Given the description of an element on the screen output the (x, y) to click on. 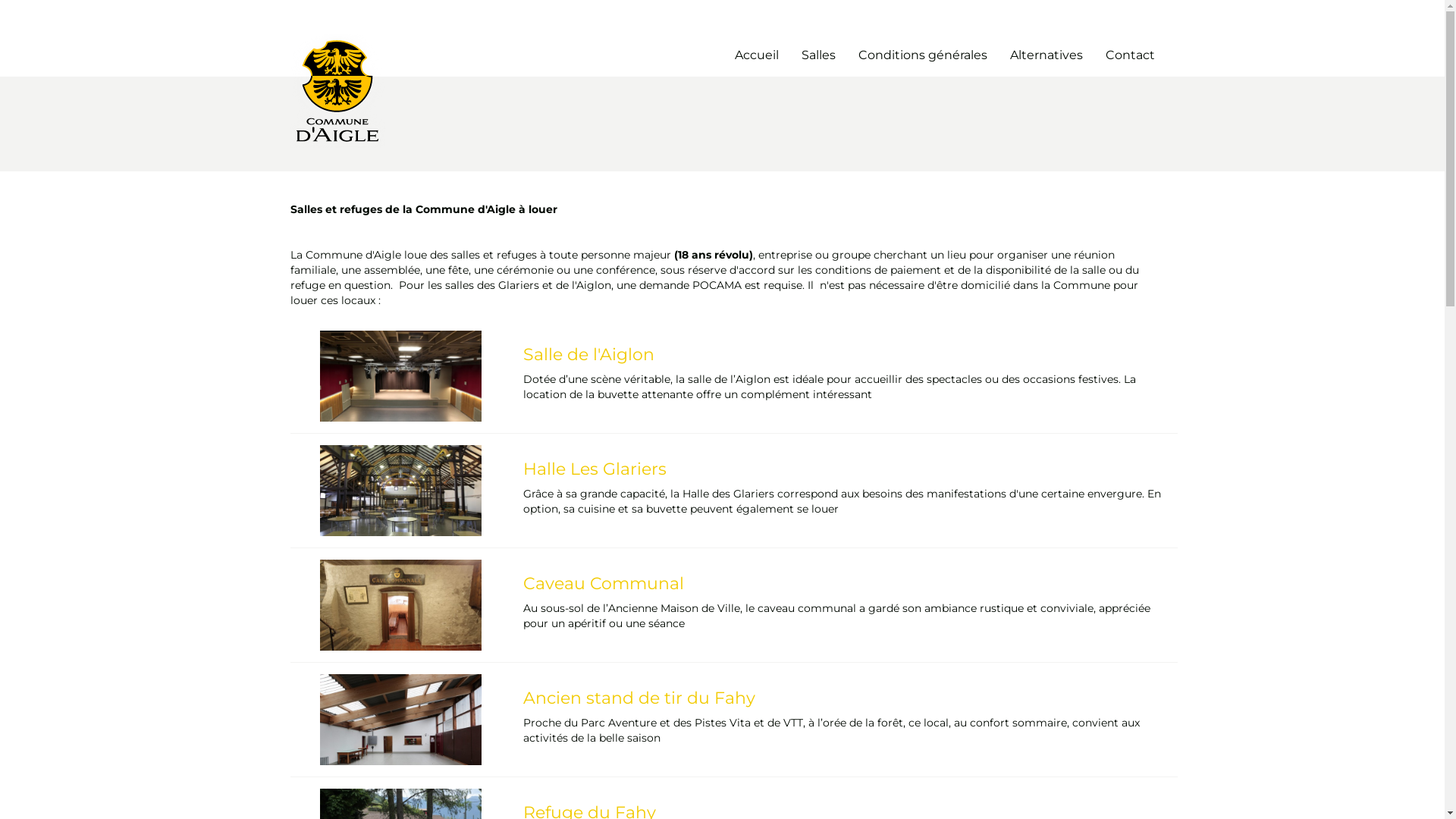
Accueil Element type: text (756, 55)
Halle Les Glariers Element type: text (844, 469)
Caveau Communal Element type: text (844, 583)
Salles Element type: text (817, 55)
Alternatives Element type: text (1046, 55)
Ancien stand de tir du Fahy Element type: text (844, 698)
Salle de l'Aiglon Element type: text (844, 354)
Contact Element type: text (1129, 55)
